Given the description of an element on the screen output the (x, y) to click on. 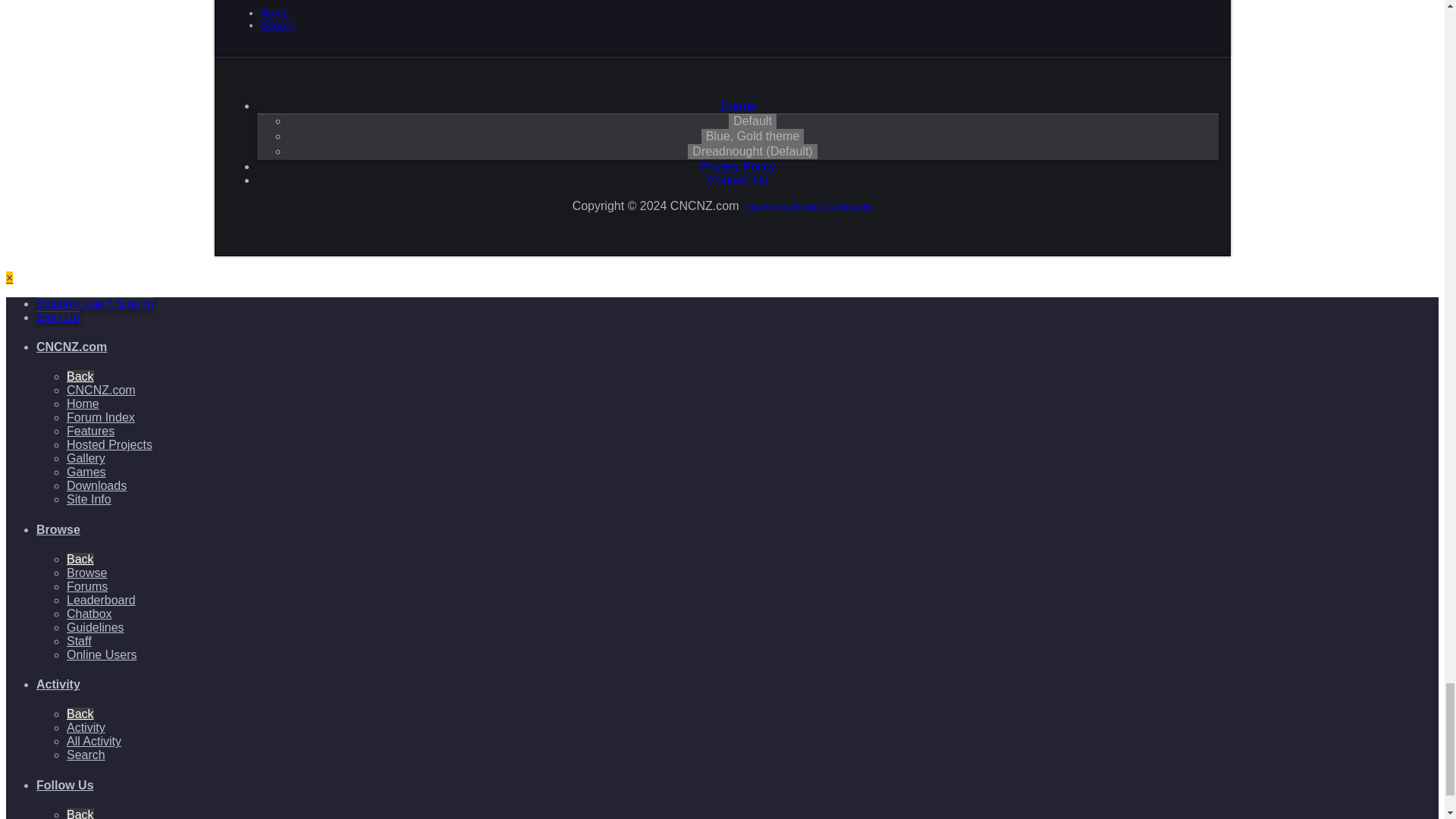
Home (274, 12)
Invision Community (807, 206)
